Given the description of an element on the screen output the (x, y) to click on. 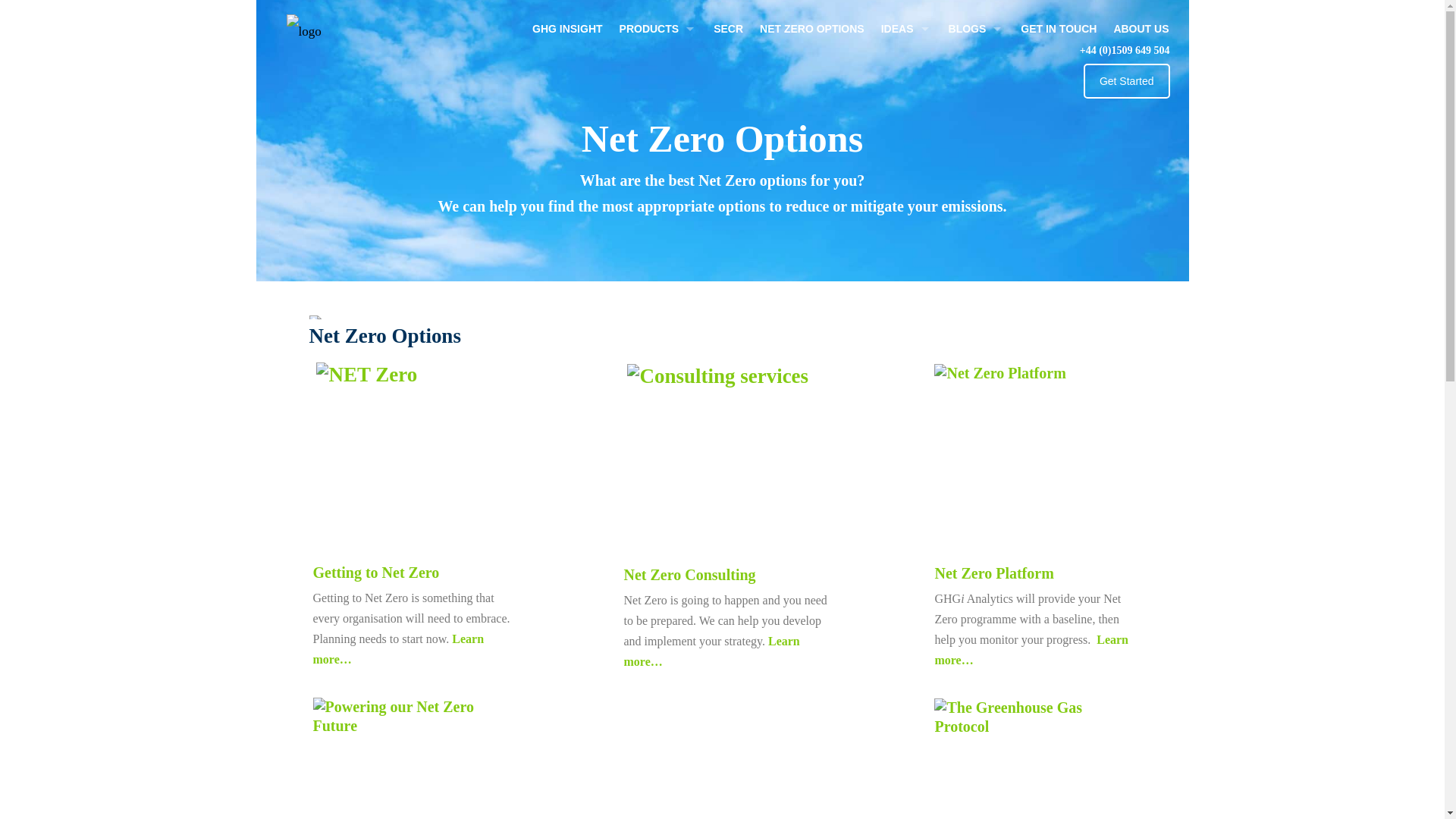
GET IN TOUCH (1058, 28)
Get Started (1126, 80)
IDEAS (906, 28)
GHG INSIGHT (567, 28)
RECORDING SCOPE 2 EMISSIONS (906, 131)
Net Zero Platform (993, 573)
WHY MEASURE GHG EMISSIONS (906, 302)
BLOGS (976, 62)
GHGI ANALYTICS (658, 62)
NET ZERO OPTIONS (811, 28)
